Given the description of an element on the screen output the (x, y) to click on. 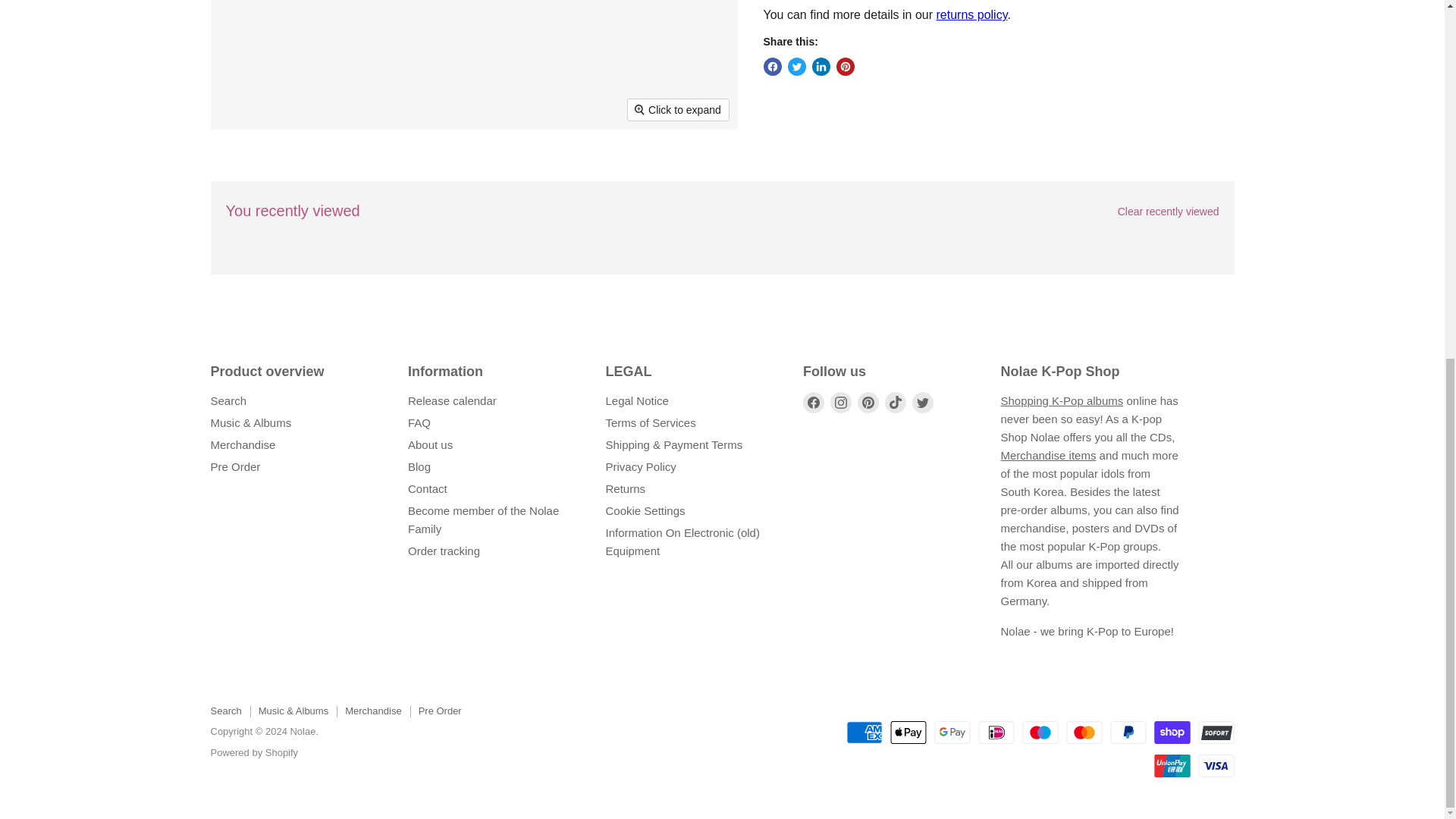
Pinterest (868, 402)
Twitter (922, 402)
Refund Policy (971, 14)
TikTok (895, 402)
Instagram (840, 402)
Facebook (813, 402)
Merchandise (1048, 454)
American Express (863, 732)
